Given the description of an element on the screen output the (x, y) to click on. 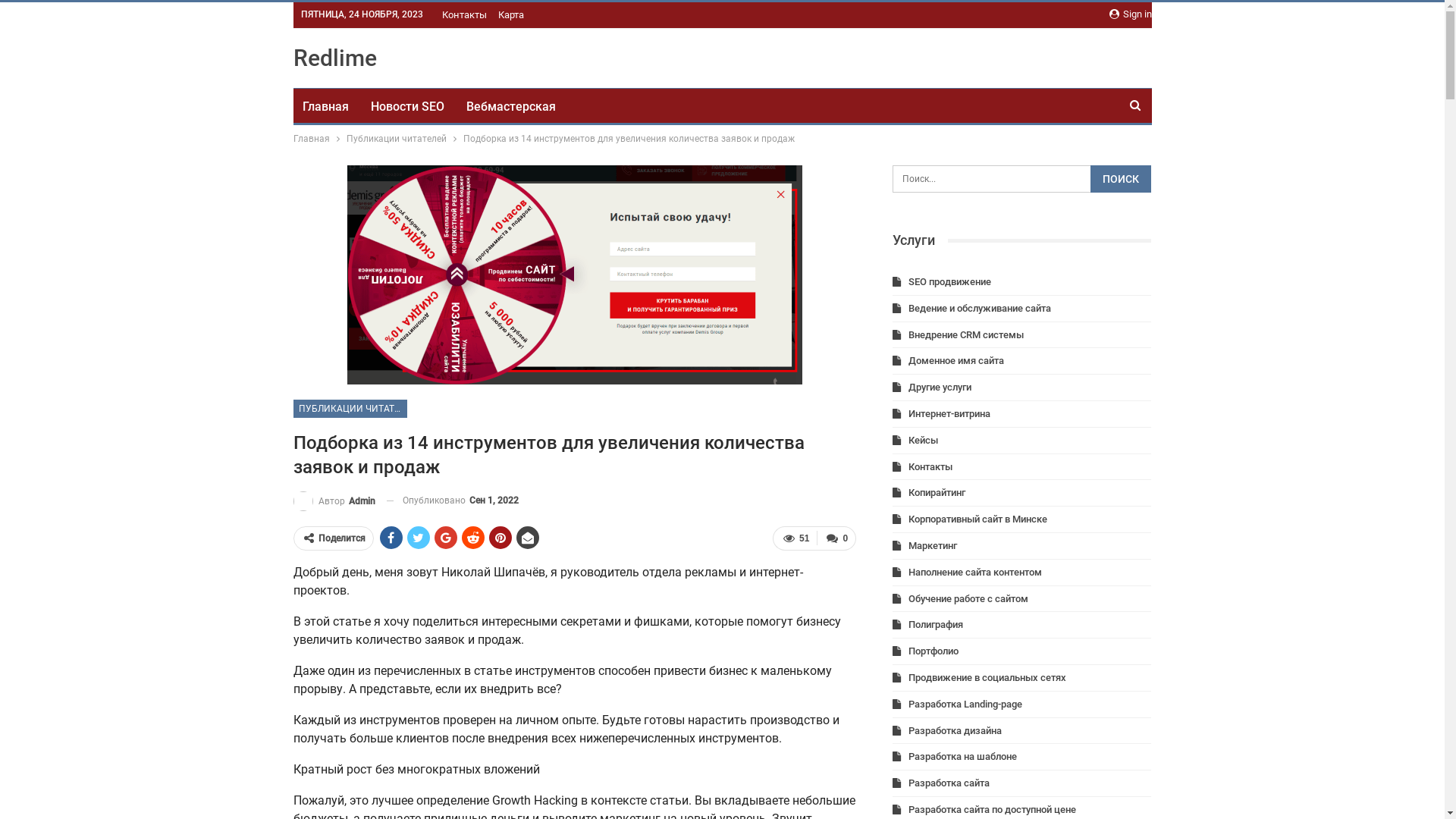
Sign in Element type: text (1129, 14)
0 Element type: text (836, 538)
Redlime Element type: text (334, 57)
